Given the description of an element on the screen output the (x, y) to click on. 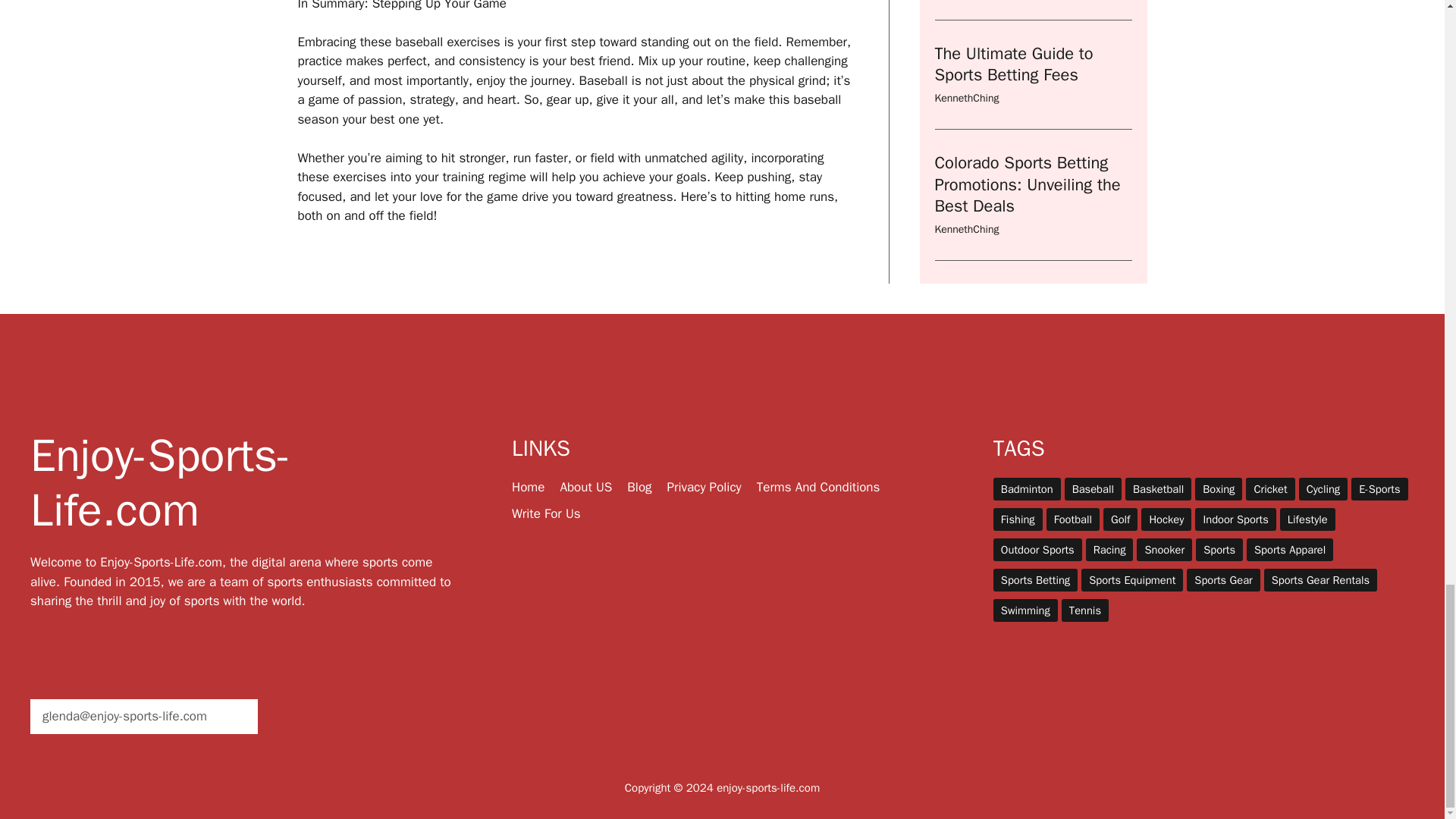
Basketball (1158, 488)
Snooker (1164, 549)
About US (585, 487)
Fishing (1017, 518)
Football (1072, 518)
Baseball (1092, 488)
Blog (638, 487)
Cricket (1270, 488)
Privacy Policy (703, 487)
Outdoor Sports (1036, 549)
E-Sports (1379, 488)
Cycling (1323, 488)
Home (528, 487)
Write For Us (546, 513)
Indoor Sports (1235, 518)
